Given the description of an element on the screen output the (x, y) to click on. 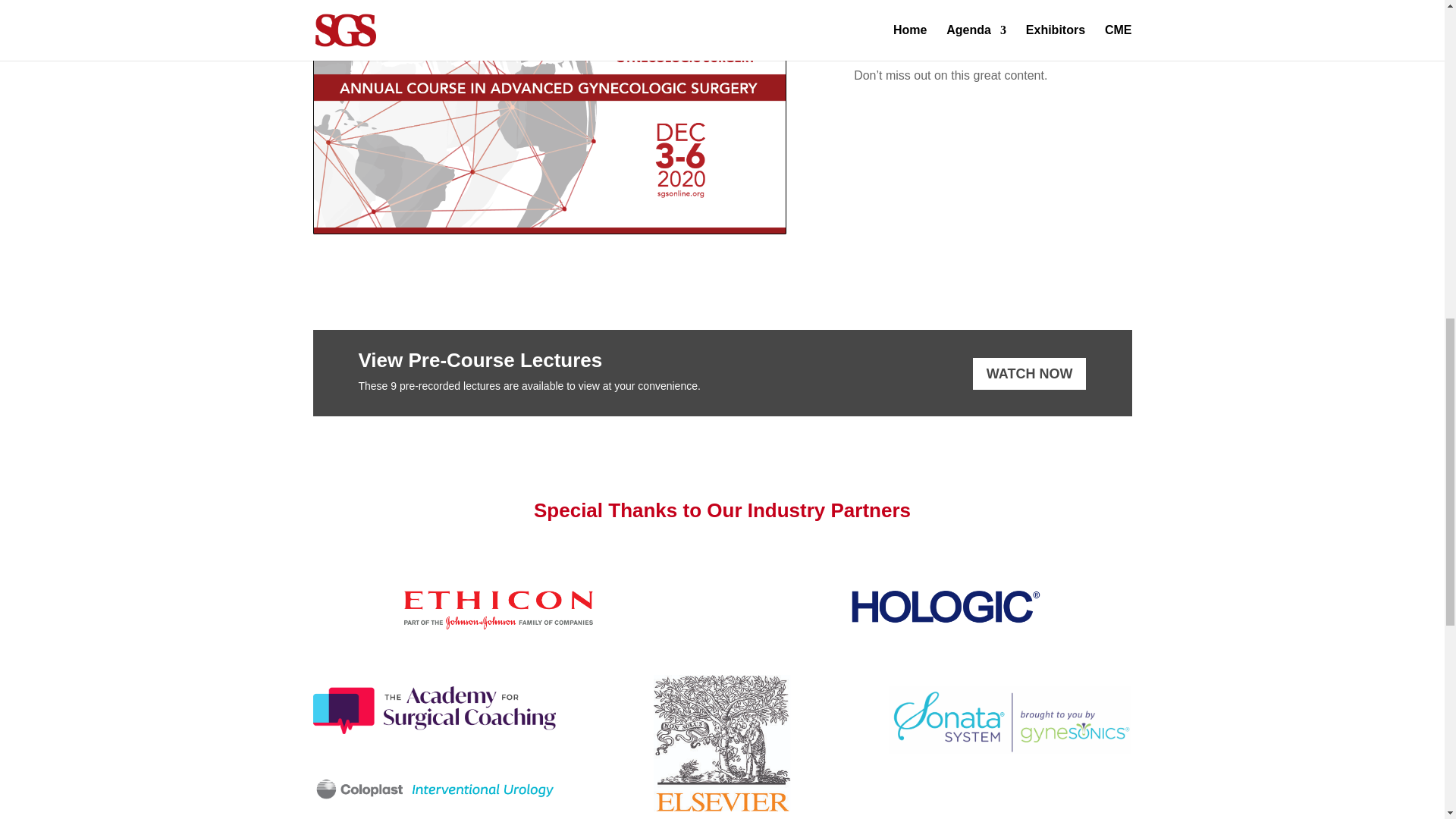
WATCH NOW (1029, 373)
